Given the description of an element on the screen output the (x, y) to click on. 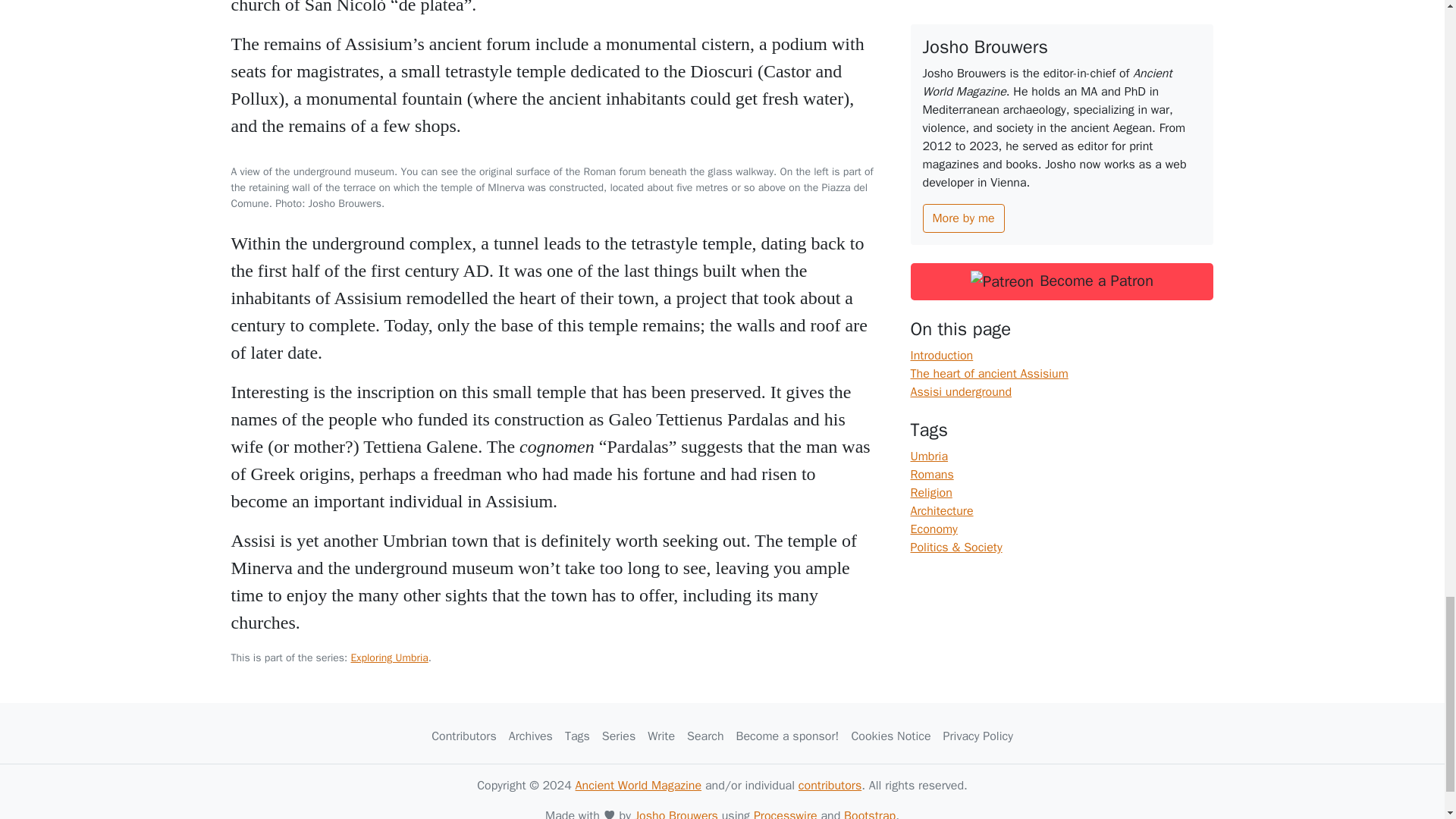
Series (618, 736)
Archives (530, 736)
Tags (577, 736)
Privacy Policy (978, 736)
Cookies Notice (890, 736)
Search (705, 736)
Become a sponsor! (787, 736)
Exploring Umbria (389, 657)
Contributors (463, 736)
contributors (829, 785)
